Given the description of an element on the screen output the (x, y) to click on. 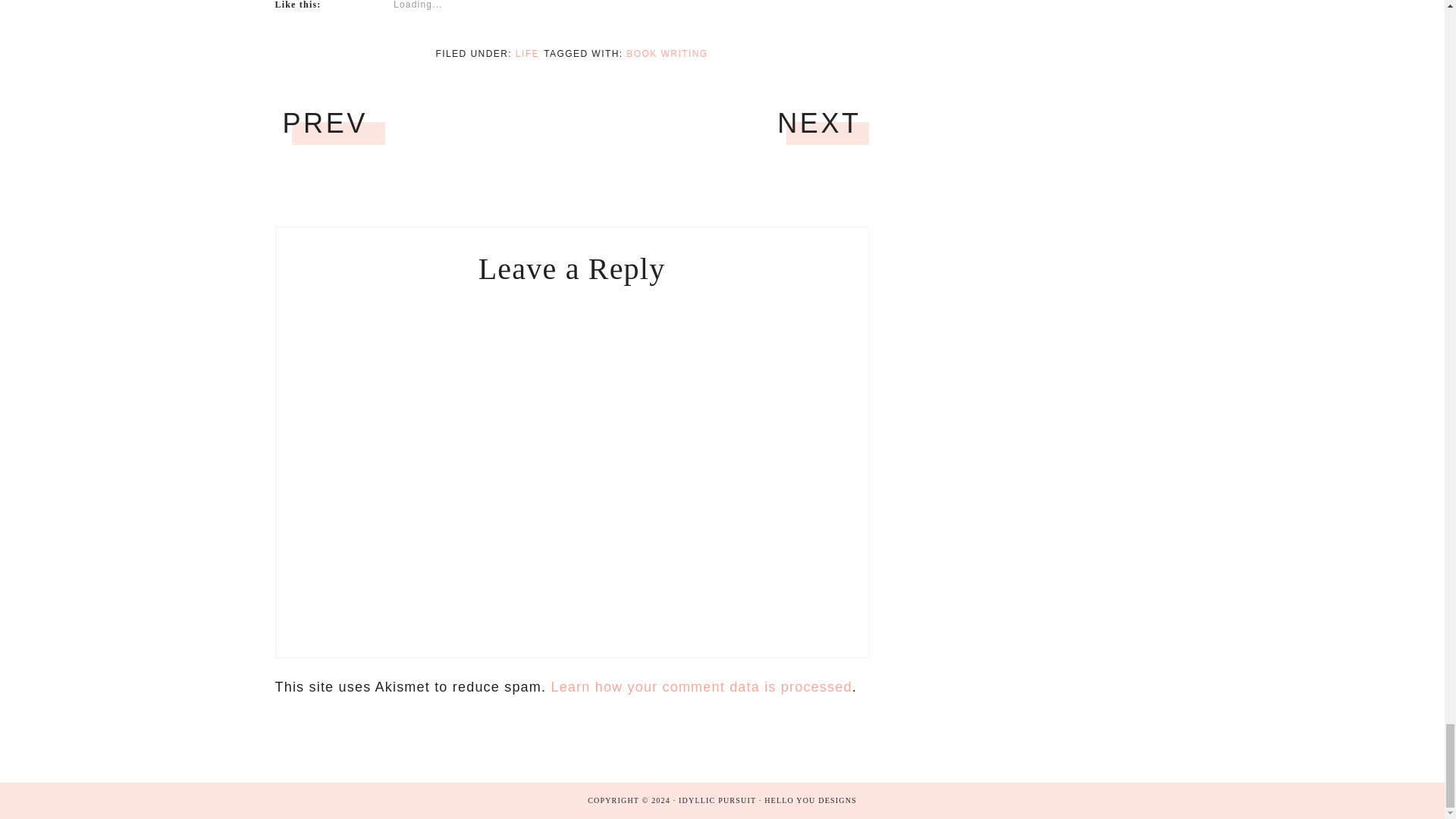
BOOK WRITING (666, 53)
PREV (324, 122)
HELLO YOU DESIGNS (810, 800)
NEXT (818, 122)
Learn how your comment data is processed (700, 686)
LIFE (526, 53)
